Given the description of an element on the screen output the (x, y) to click on. 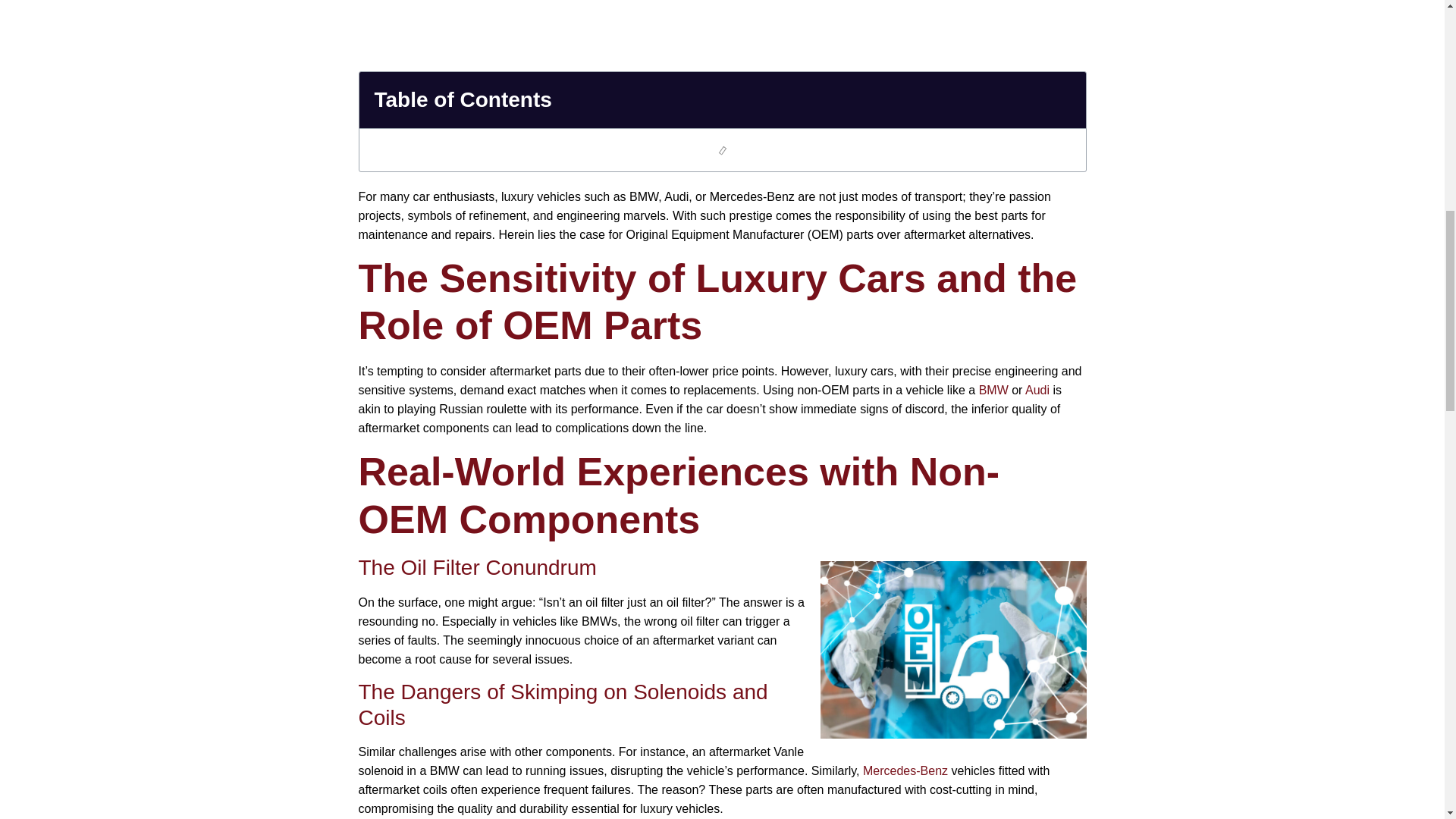
BMW (994, 390)
Mercedes-Benz (905, 770)
Audi (1037, 390)
